Given the description of an element on the screen output the (x, y) to click on. 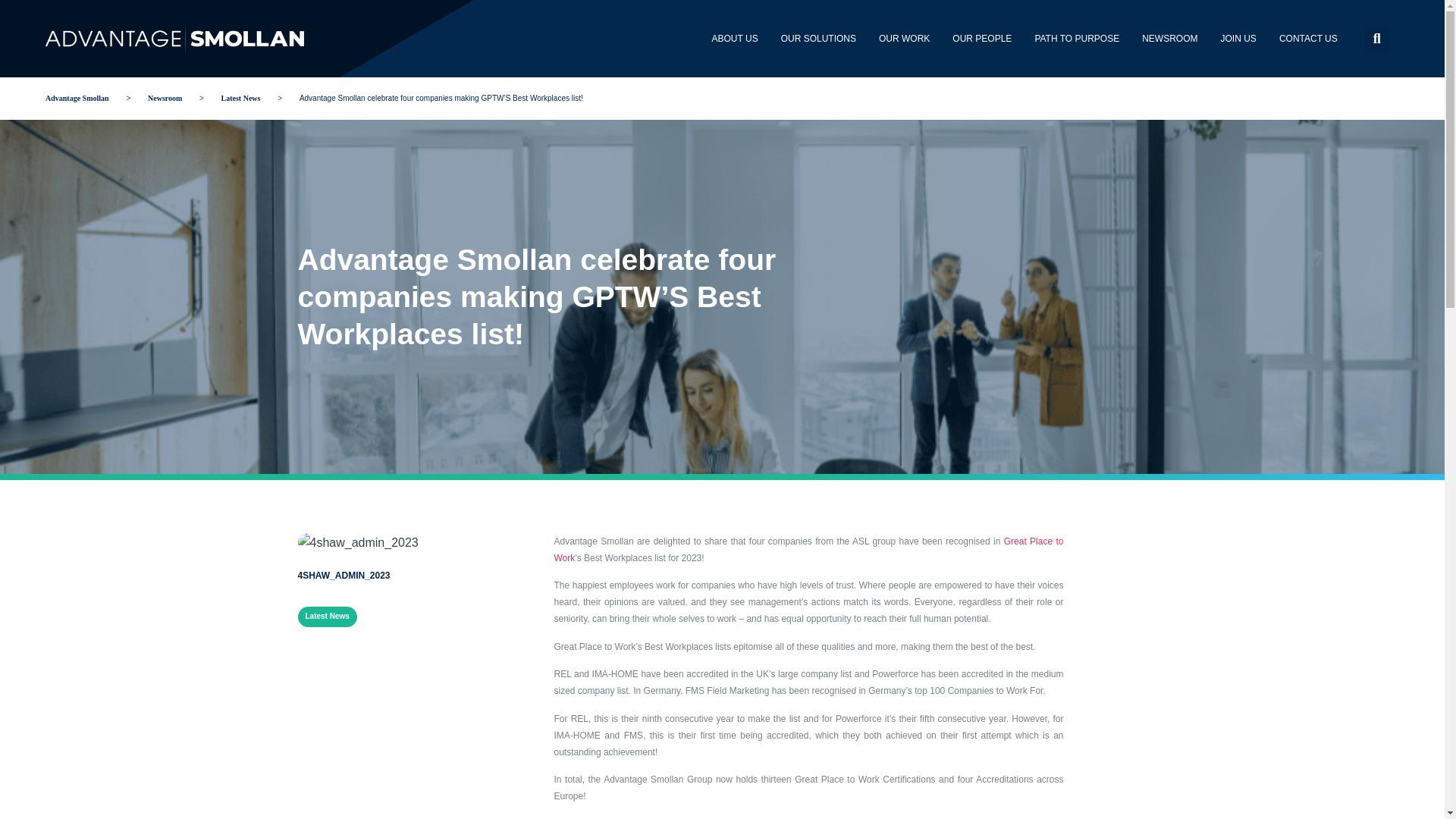
Go to Advantage Smollan. (76, 98)
CONTACT US (1308, 38)
PATH TO PURPOSE (1077, 38)
NEWSROOM (1169, 38)
ABOUT US (735, 38)
OUR PEOPLE (981, 38)
Go to Newsroom. (165, 98)
OUR SOLUTIONS (818, 38)
Go to the Latest News category archives. (240, 98)
OUR WORK (903, 38)
